Given the description of an element on the screen output the (x, y) to click on. 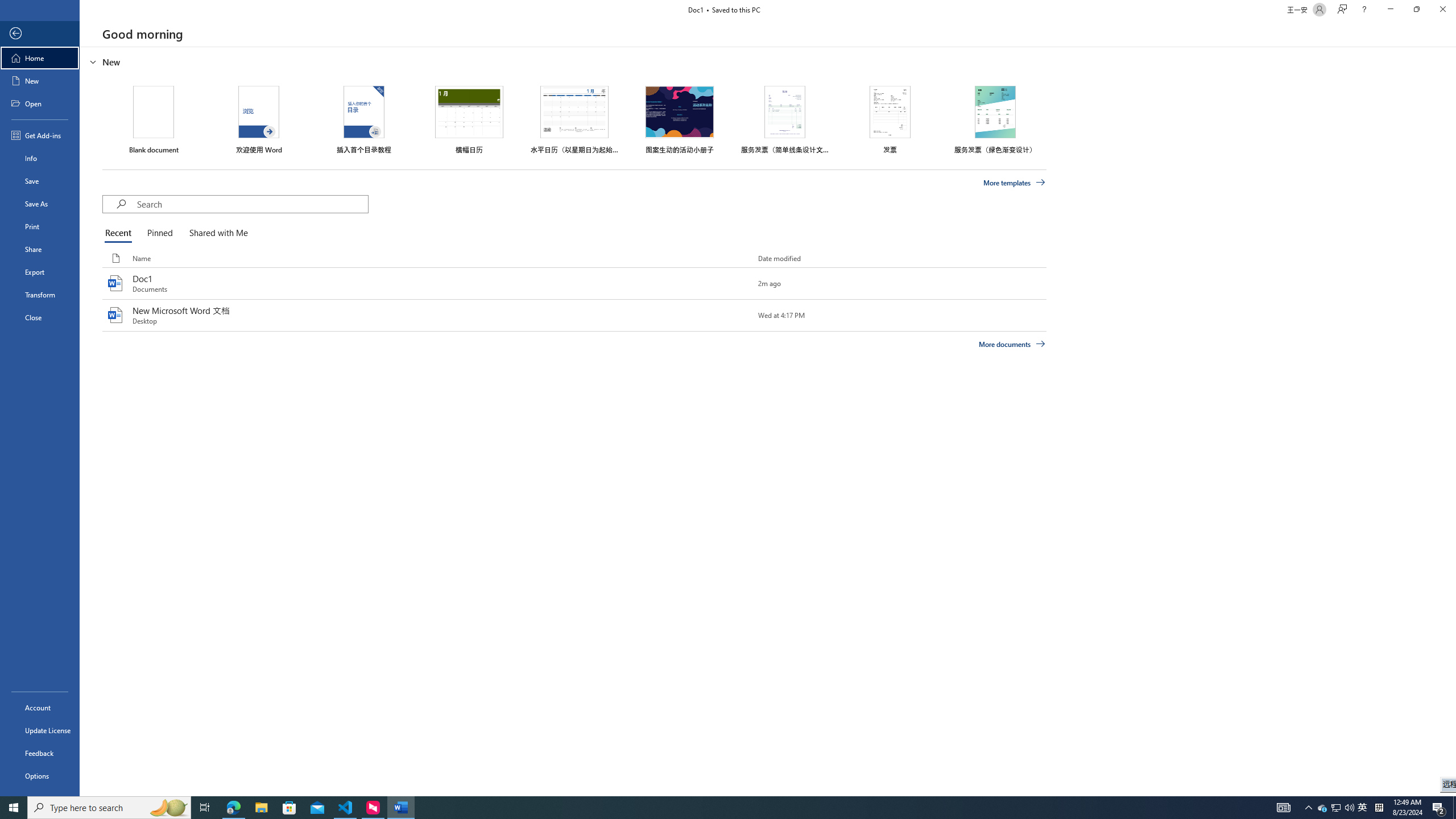
Account (40, 707)
Info (40, 157)
Print (40, 225)
Recent (119, 233)
Feedback (40, 753)
Save As (40, 203)
